Given the description of an element on the screen output the (x, y) to click on. 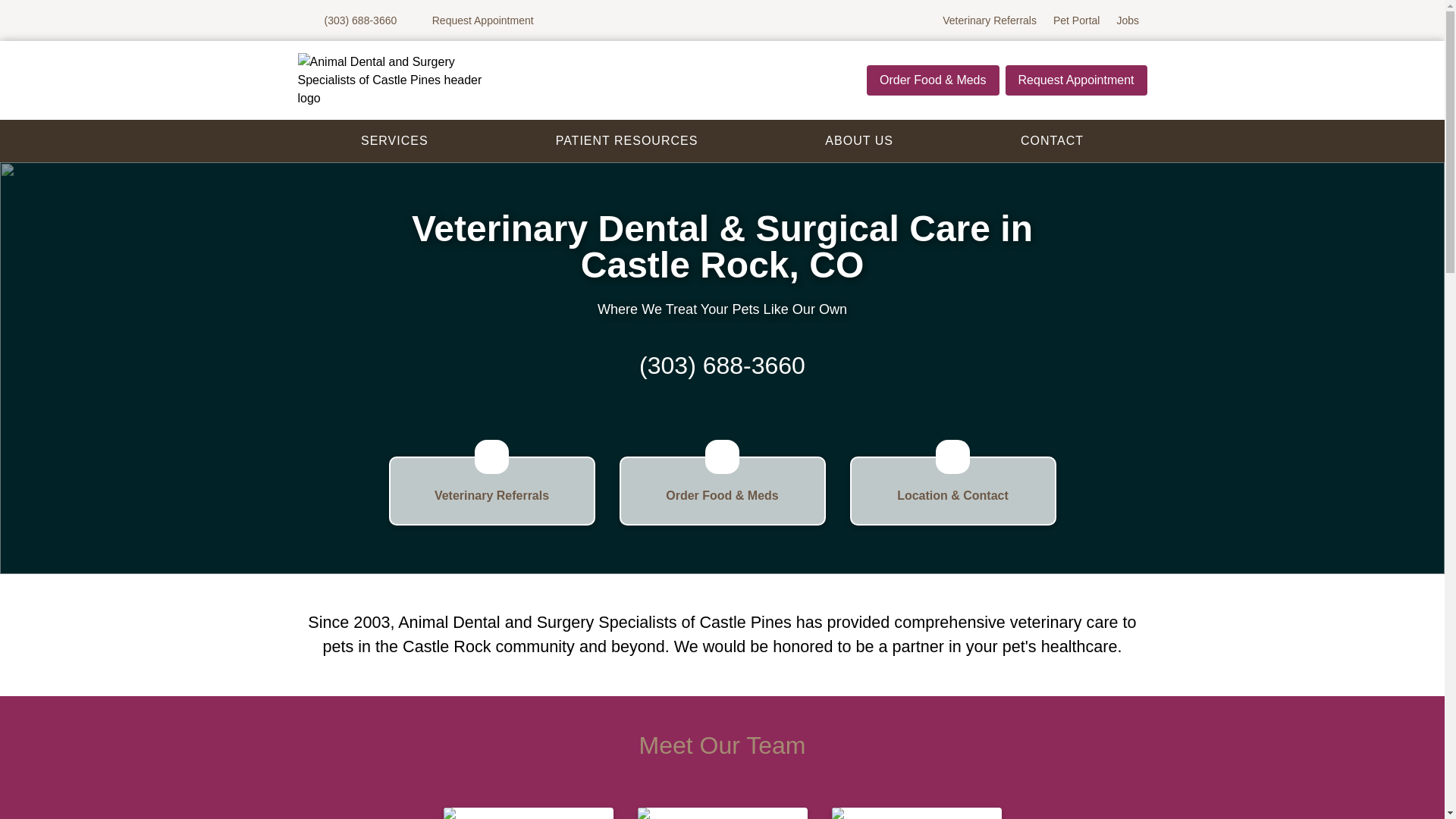
SERVICES (394, 141)
Veterinary Referrals (989, 20)
ABOUT US (916, 813)
PATIENT RESOURCES (858, 141)
Request Appointment (626, 141)
CONTACT (473, 20)
Veterinary Referrals (1051, 141)
Request Appointment (491, 490)
Pet Portal (721, 813)
Jobs (1076, 80)
